Given the description of an element on the screen output the (x, y) to click on. 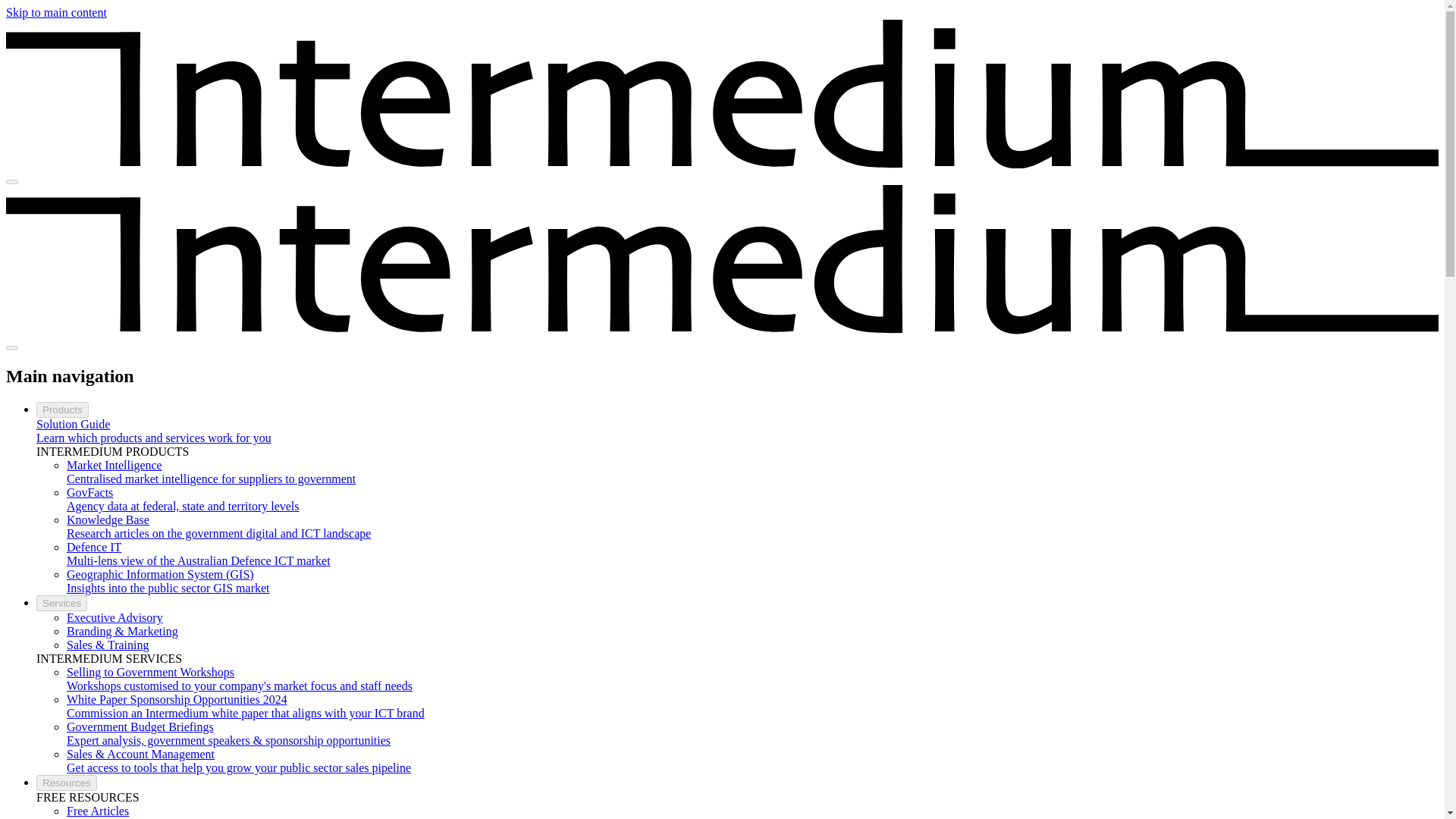
Products (62, 409)
Resources (66, 782)
Services (61, 602)
Skip to main content (55, 11)
